Given the description of an element on the screen output the (x, y) to click on. 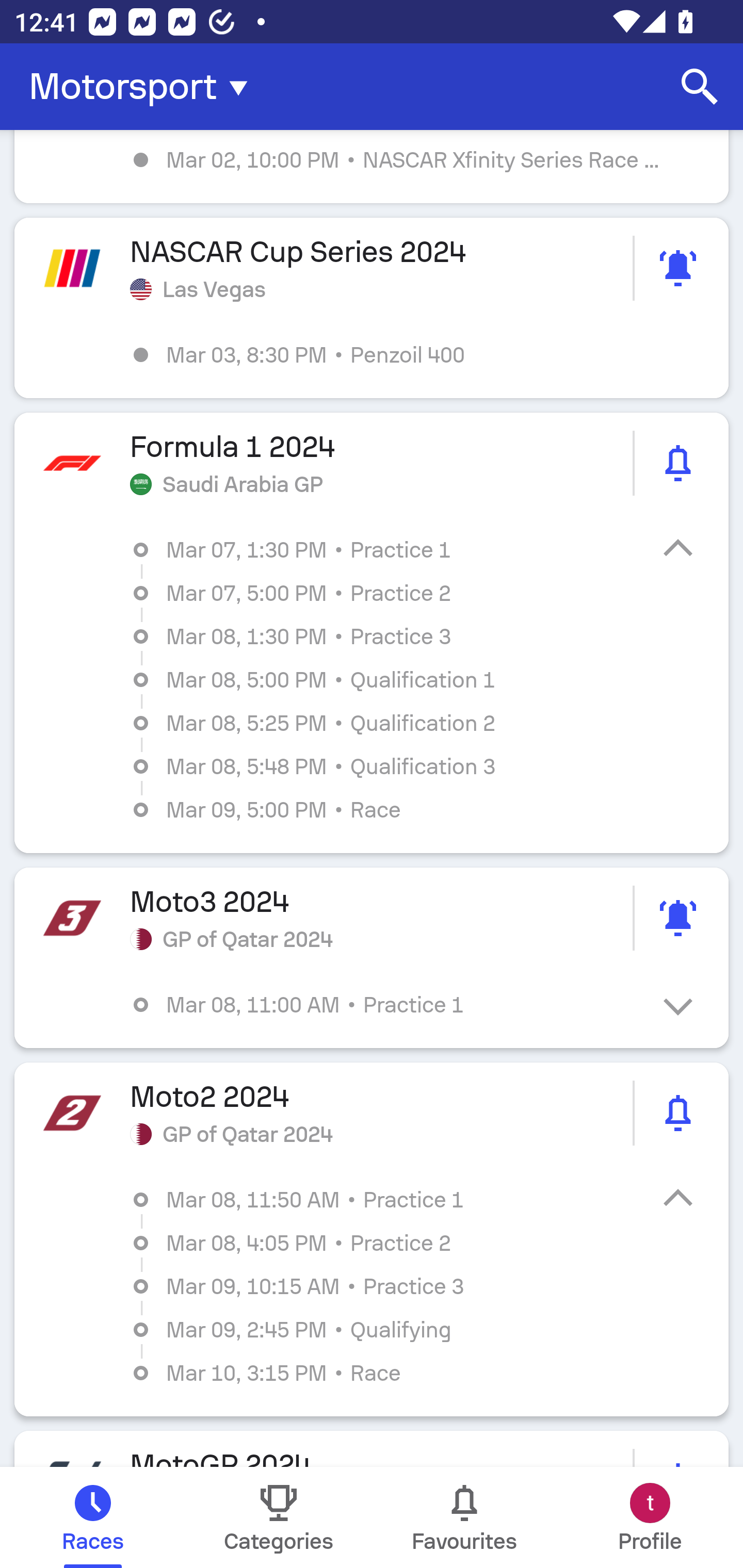
Motorsport (144, 86)
Search (699, 86)
Mar 08, 11:00 AM • Practice 1 (385, 1004)
Categories (278, 1517)
Favourites (464, 1517)
Profile (650, 1517)
